Given the description of an element on the screen output the (x, y) to click on. 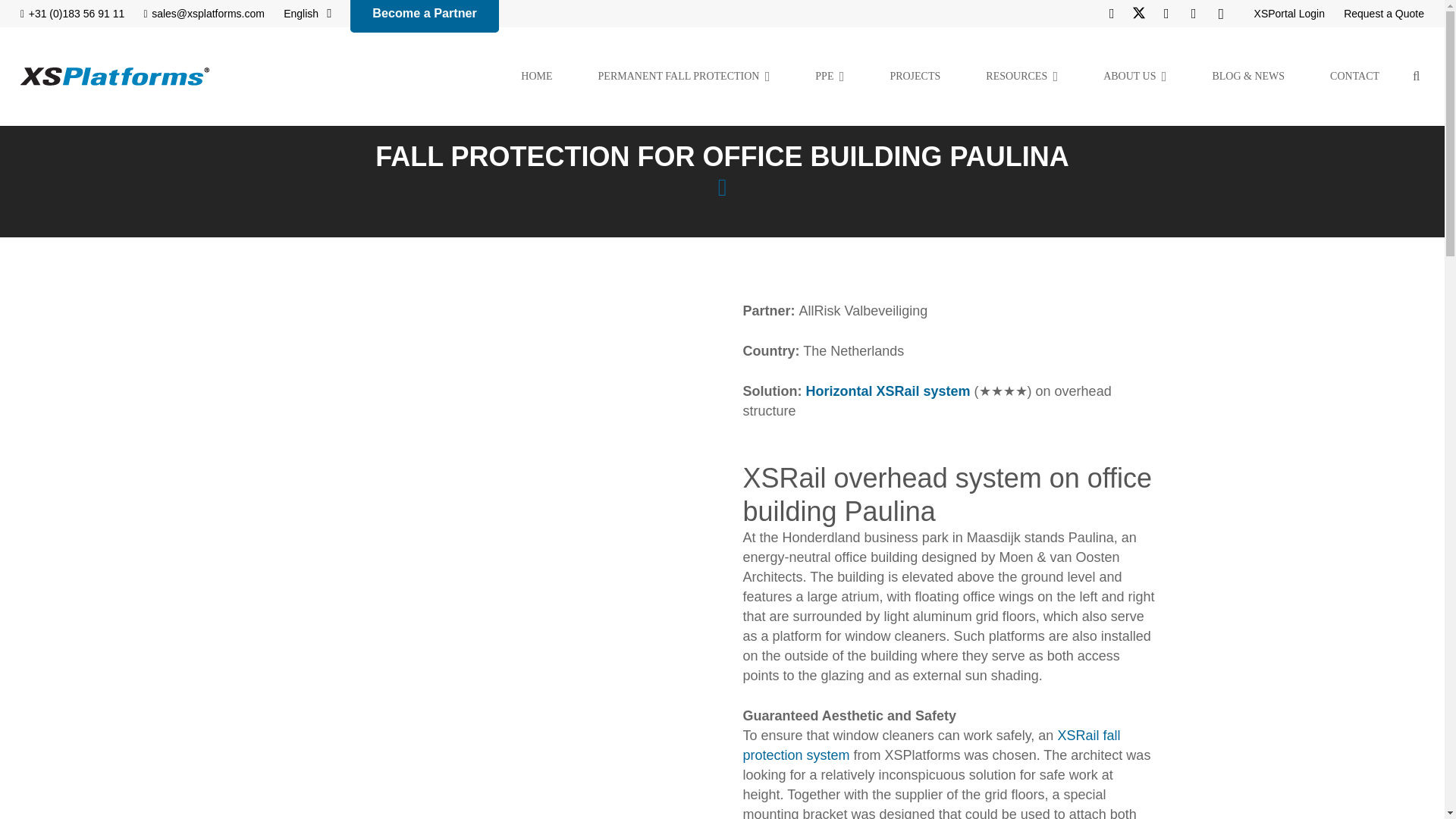
LinkedIn (1166, 13)
English (307, 13)
Facebook (1111, 13)
YouTube (1193, 13)
PERMANENT FALL PROTECTION (684, 76)
Instagram (1220, 13)
Request a Quote (1383, 13)
Become a Partner (424, 15)
XSPortal Login (1288, 13)
Twitter (1139, 13)
